Given the description of an element on the screen output the (x, y) to click on. 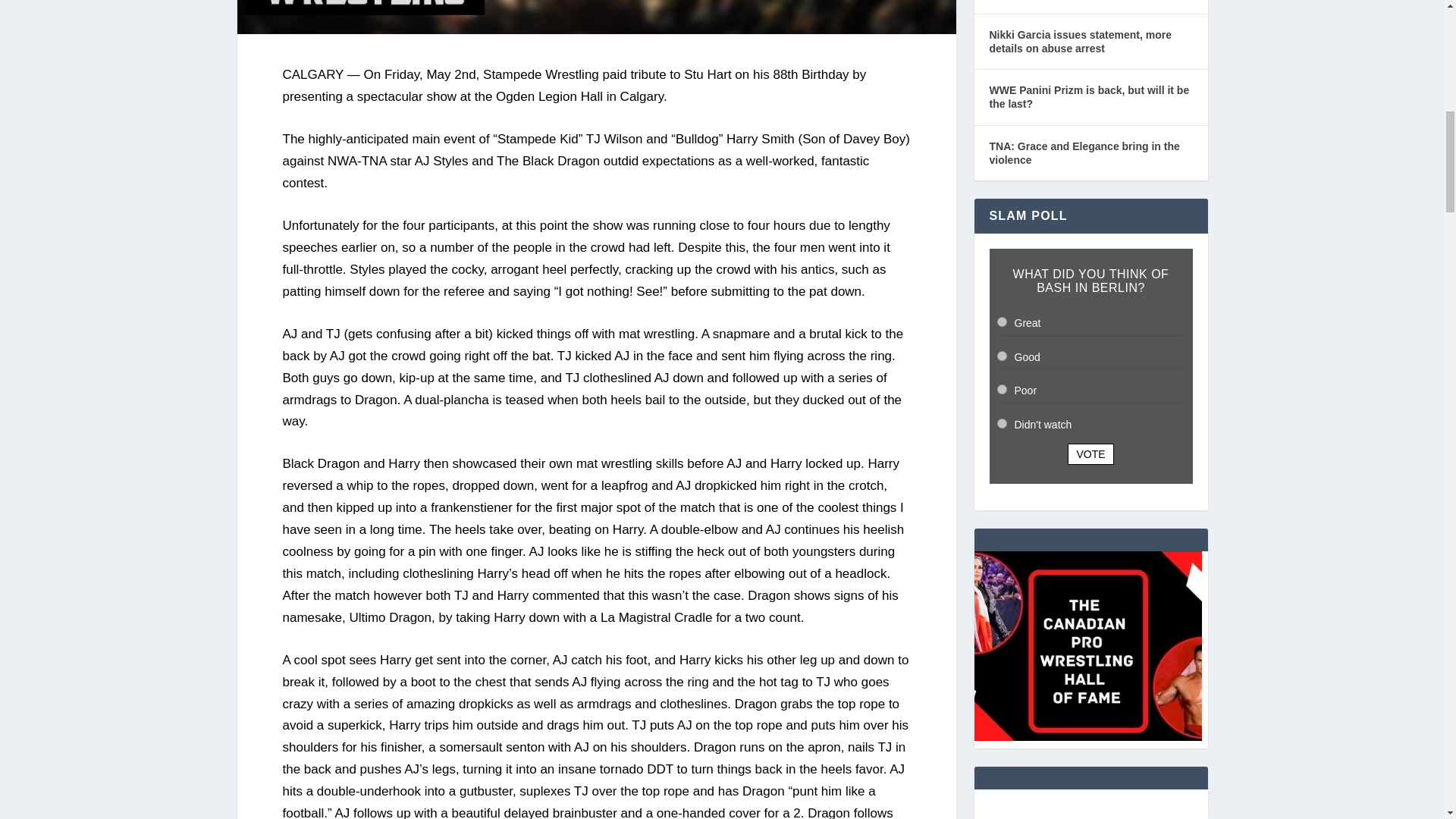
6513 (1000, 423)
6510 (1000, 321)
6511 (1000, 356)
6512 (1000, 388)
